Given the description of an element on the screen output the (x, y) to click on. 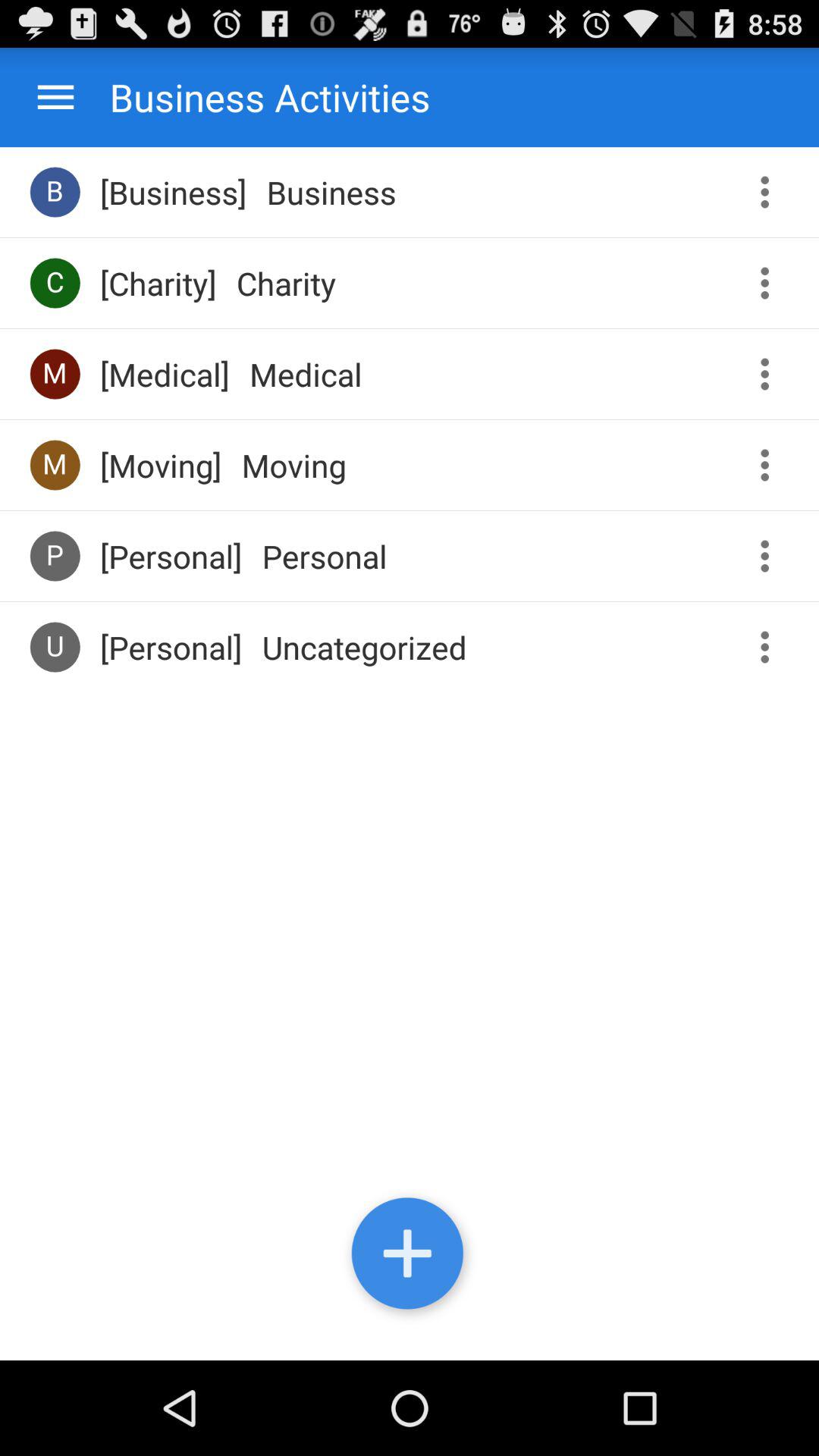
choose the item next to the [business] (54, 191)
